Given the description of an element on the screen output the (x, y) to click on. 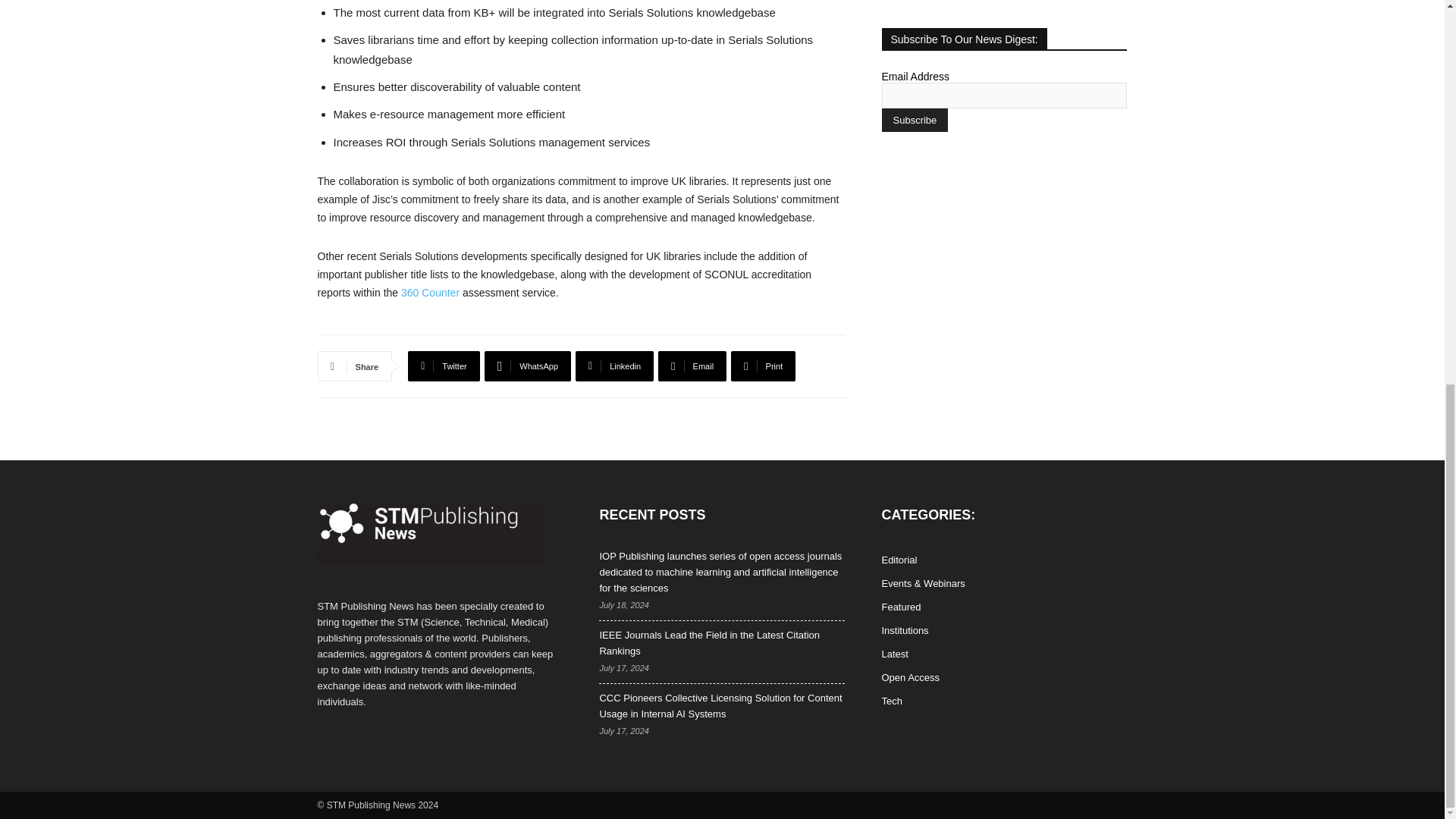
Subscribe (913, 119)
